Given the description of an element on the screen output the (x, y) to click on. 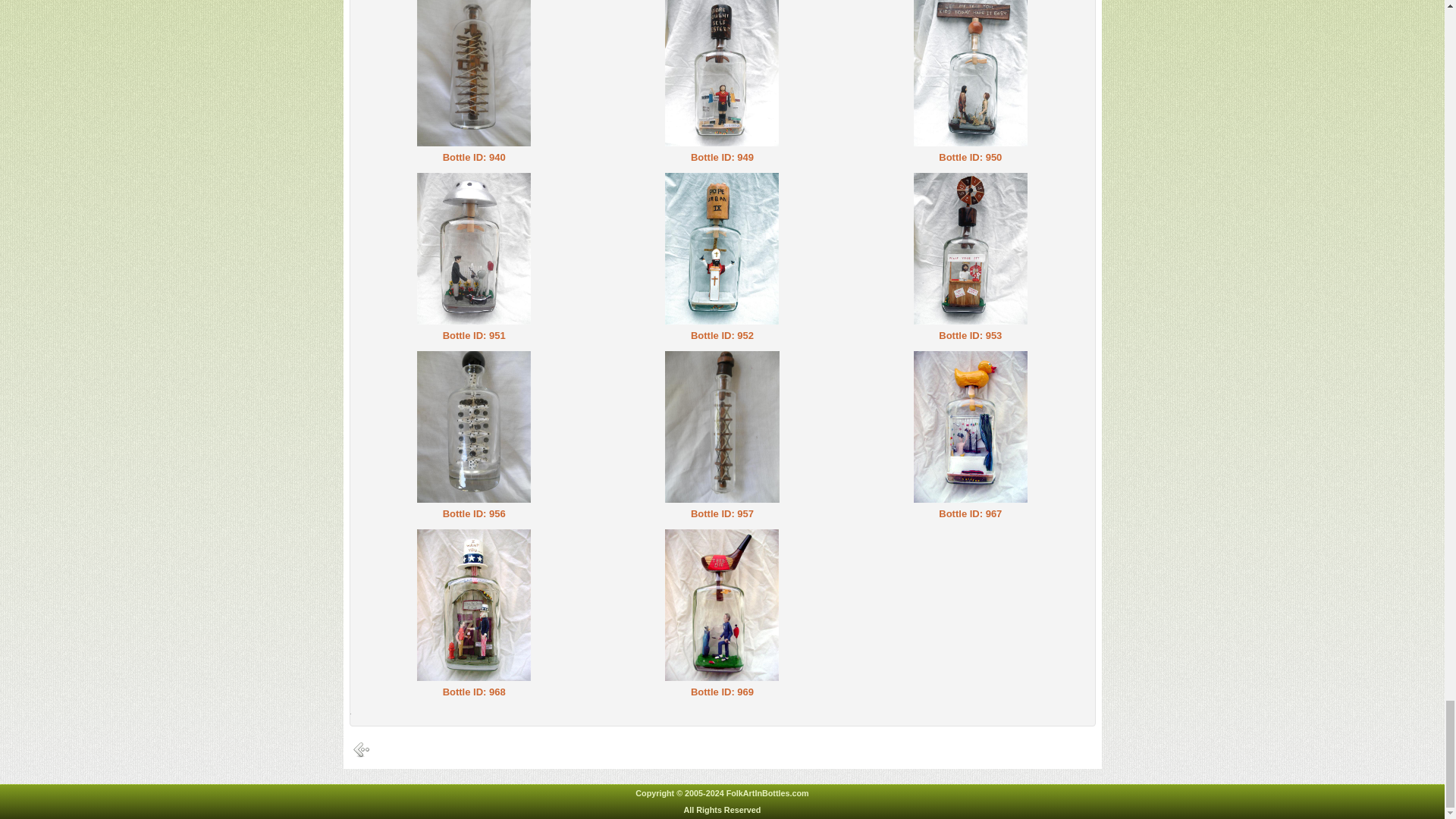
BACK (361, 754)
